Given the description of an element on the screen output the (x, y) to click on. 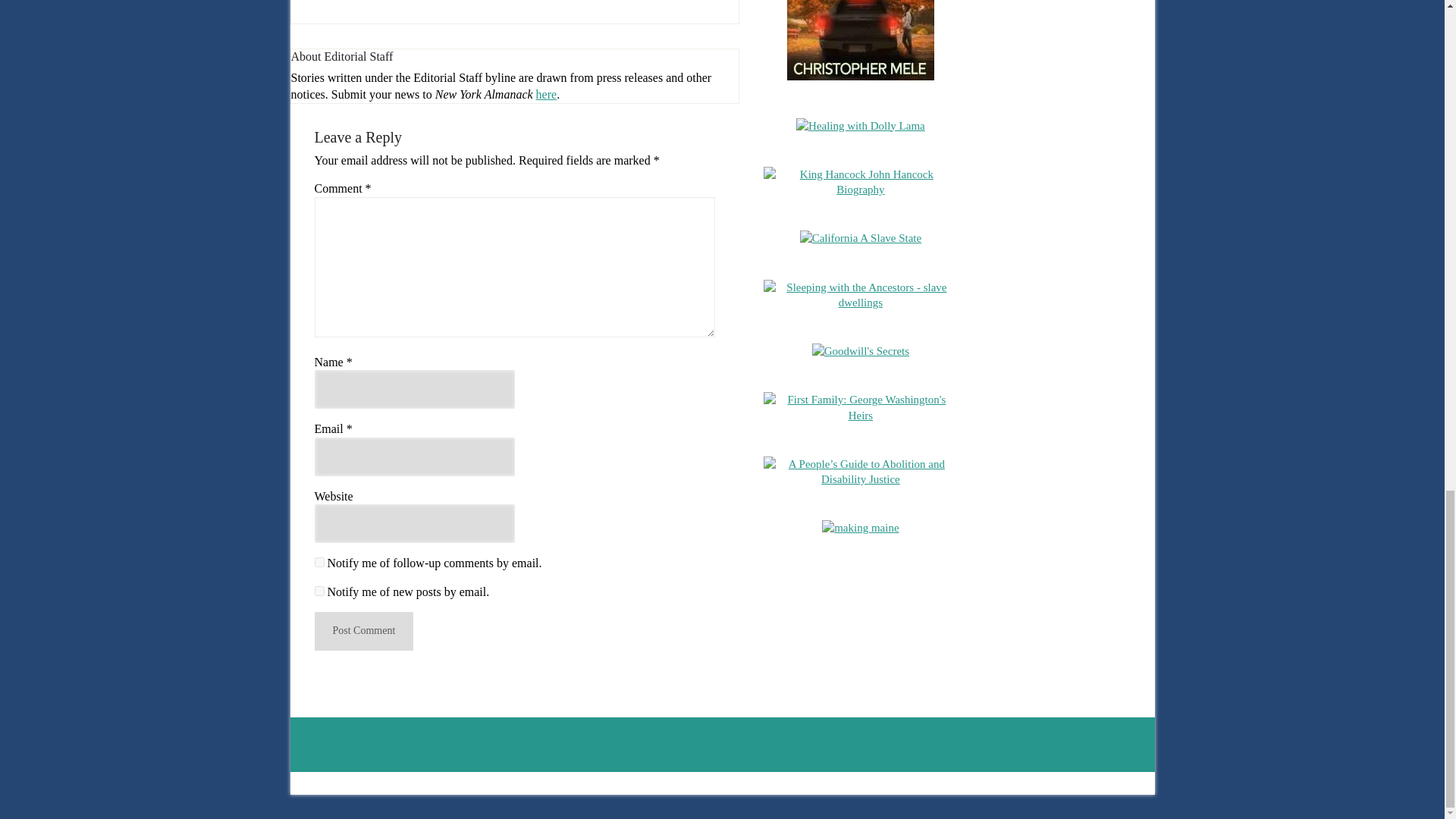
subscribe (318, 562)
subscribe (318, 591)
Post Comment (363, 630)
